Given the description of an element on the screen output the (x, y) to click on. 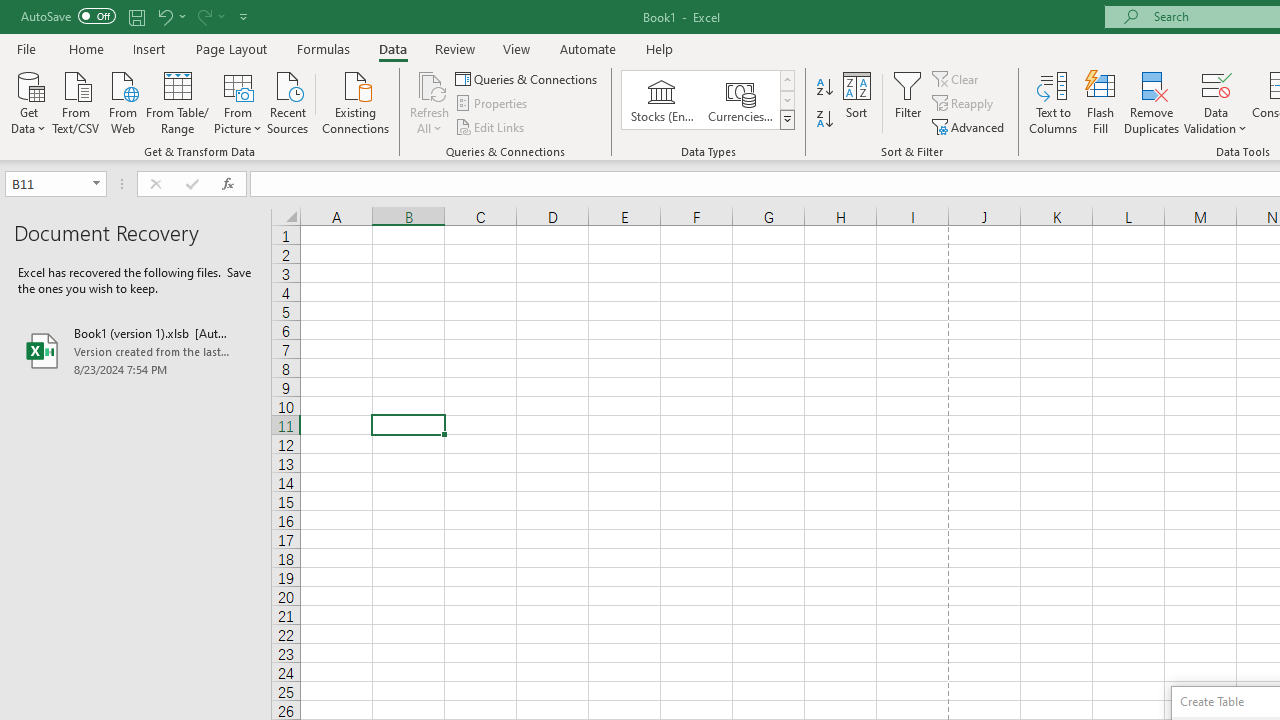
Queries & Connections (527, 78)
Existing Connections (355, 101)
AutomationID: ConvertToLinkedEntity (708, 99)
Properties (492, 103)
Sort... (856, 102)
From Web (122, 101)
Row up (786, 79)
